Given the description of an element on the screen output the (x, y) to click on. 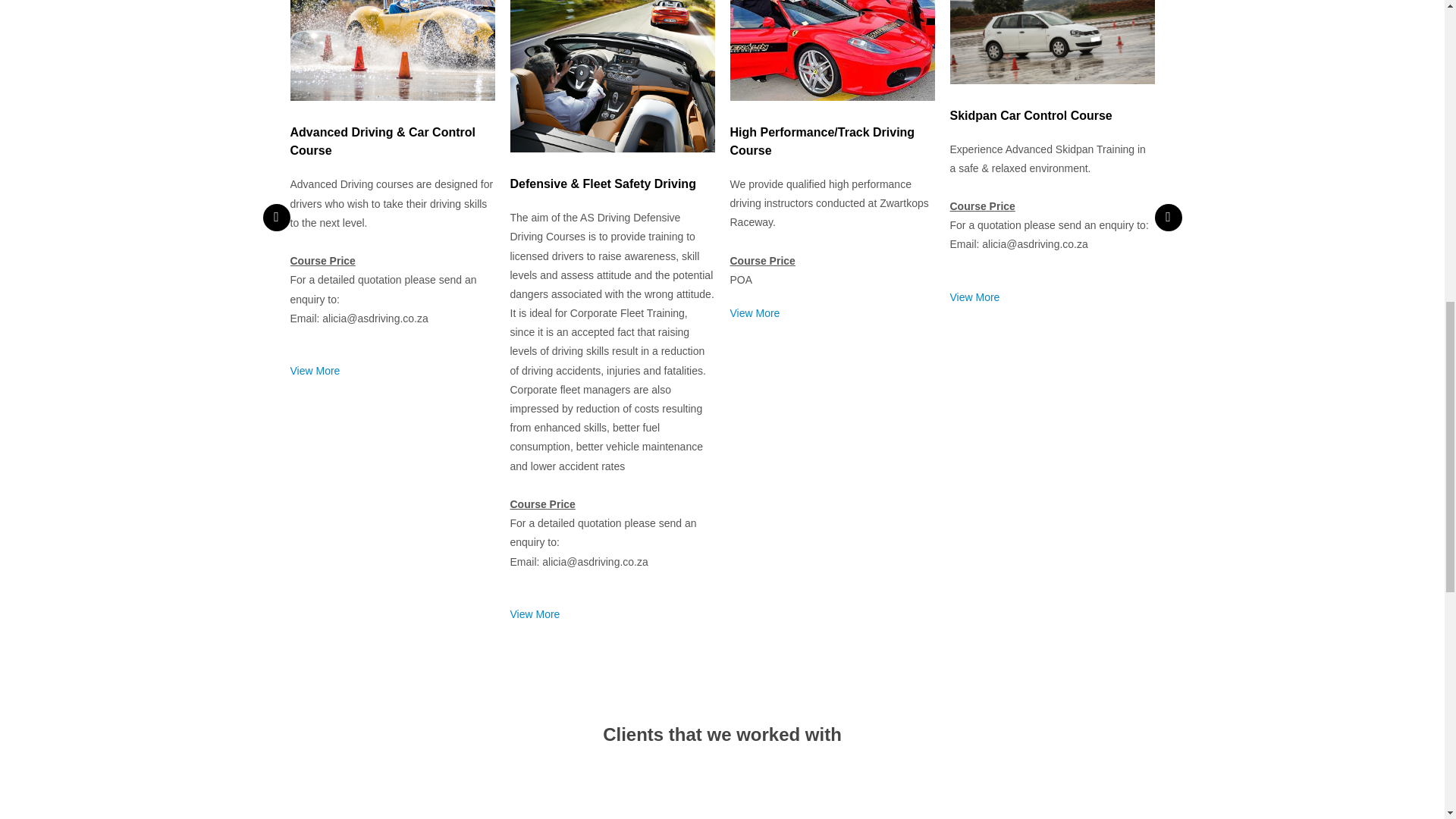
Skidpan Car Control Course (1030, 115)
View More (753, 313)
View More (534, 613)
View More (973, 297)
View More (314, 370)
